Given the description of an element on the screen output the (x, y) to click on. 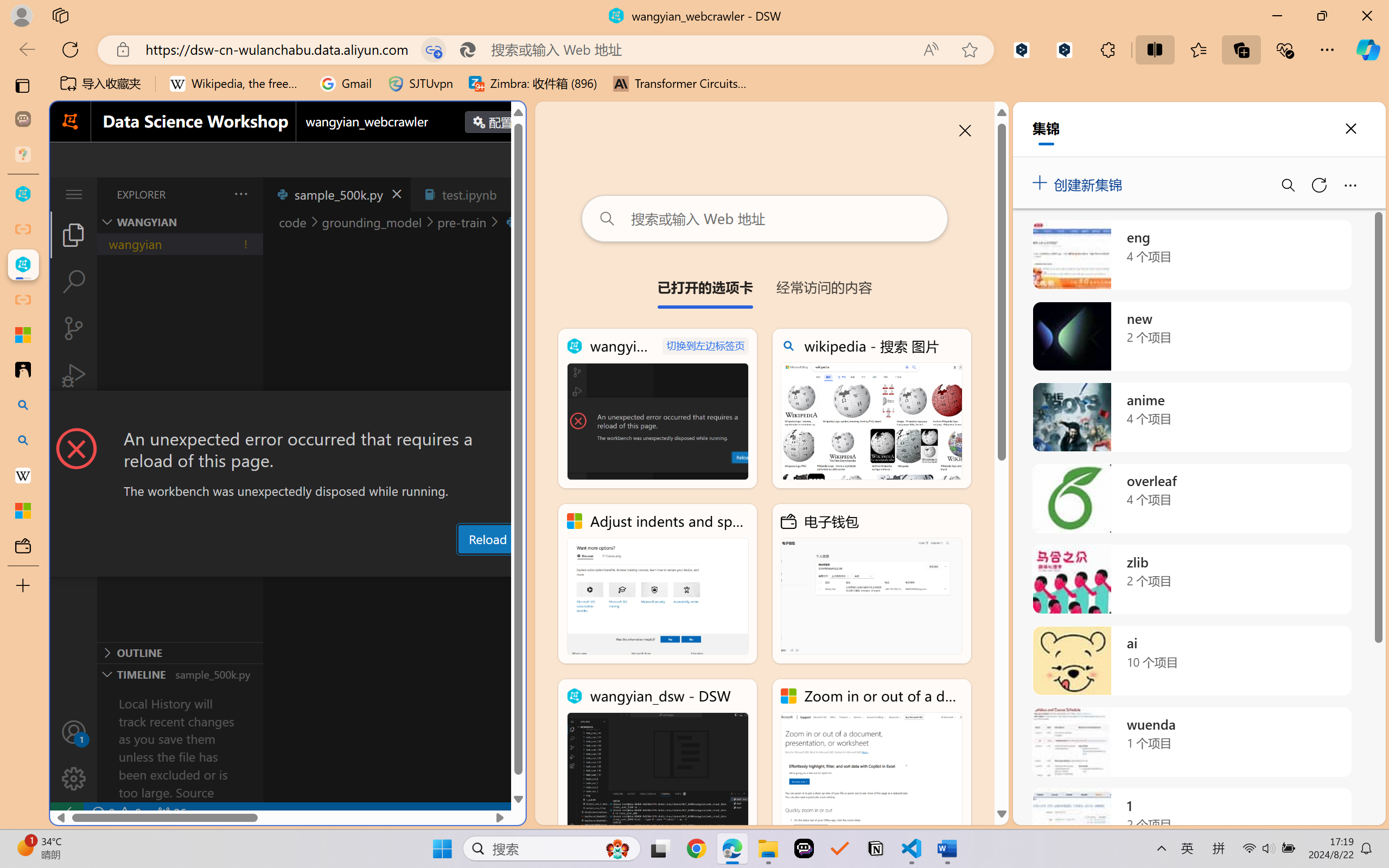
Copilot (Ctrl+Shift+.) (1368, 49)
Class: actions-container (287, 410)
Reload (486, 538)
Earth - Wikipedia (22, 475)
Output (Ctrl+Shift+U) (377, 565)
